Given the description of an element on the screen output the (x, y) to click on. 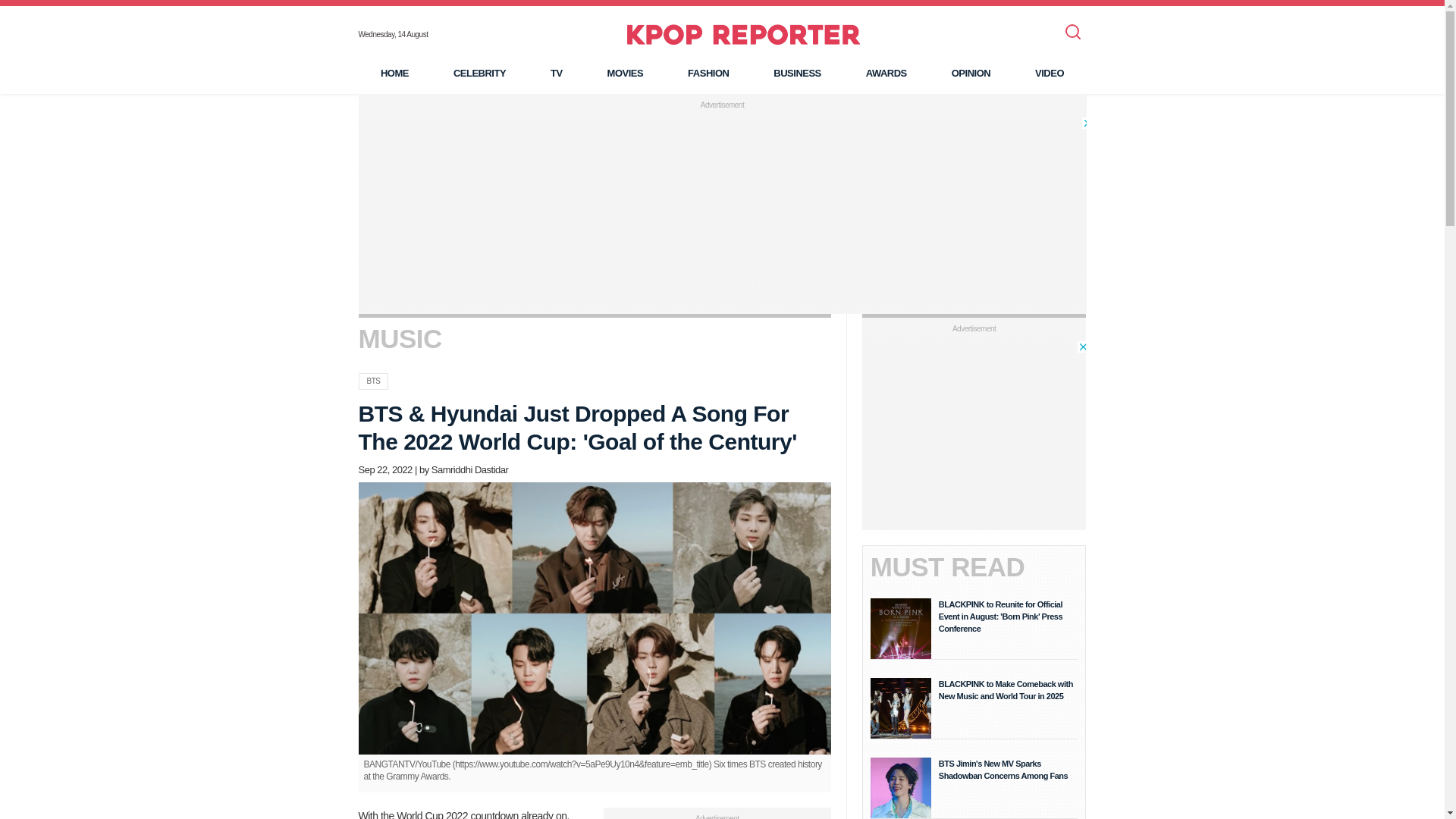
CELEBRITY (478, 72)
MOVIES (625, 72)
VIDEO (1049, 72)
MUST READ (947, 566)
KPOP REPORTER (743, 34)
HOME (394, 72)
FASHION (708, 72)
TV (556, 72)
BUSINESS (797, 72)
OPINION (971, 72)
